Given the description of an element on the screen output the (x, y) to click on. 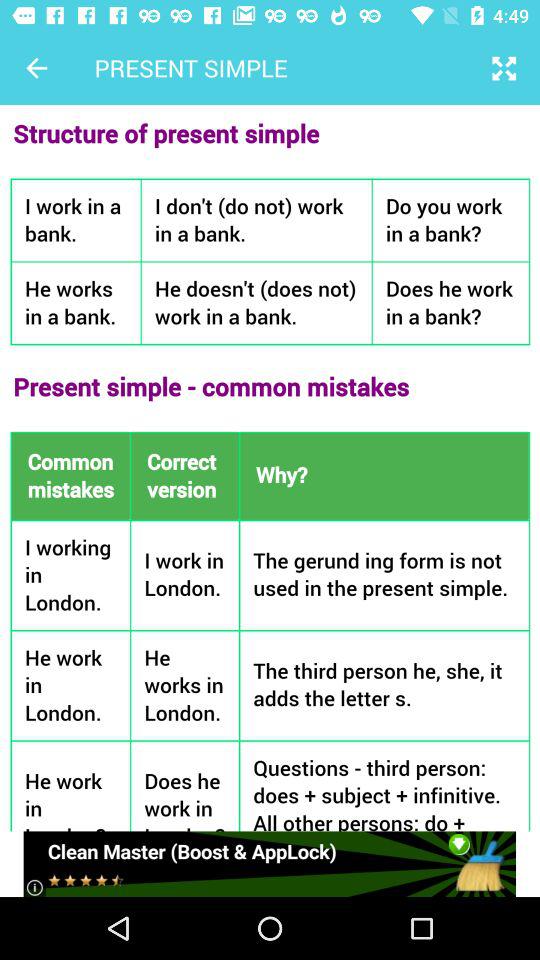
back the option (36, 68)
